Given the description of an element on the screen output the (x, y) to click on. 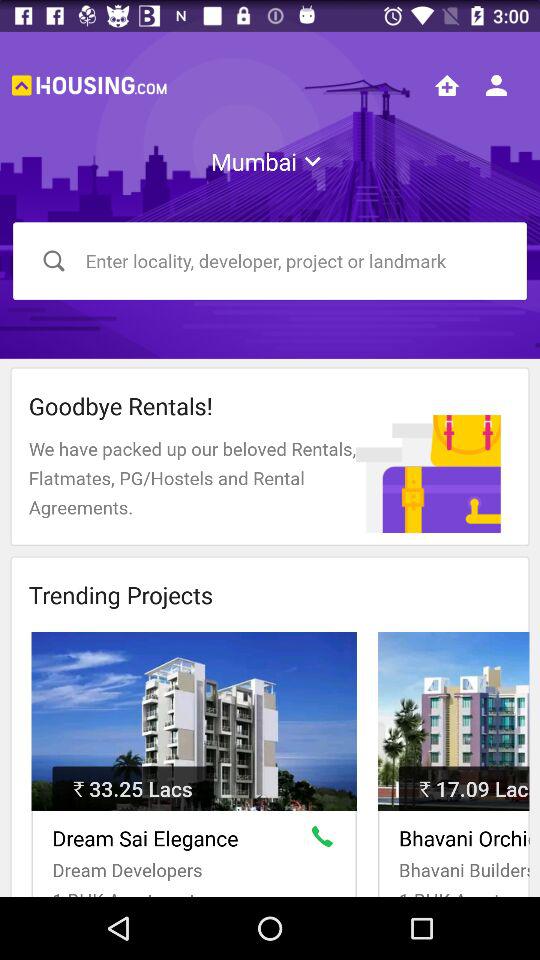
see your account (496, 85)
